Given the description of an element on the screen output the (x, y) to click on. 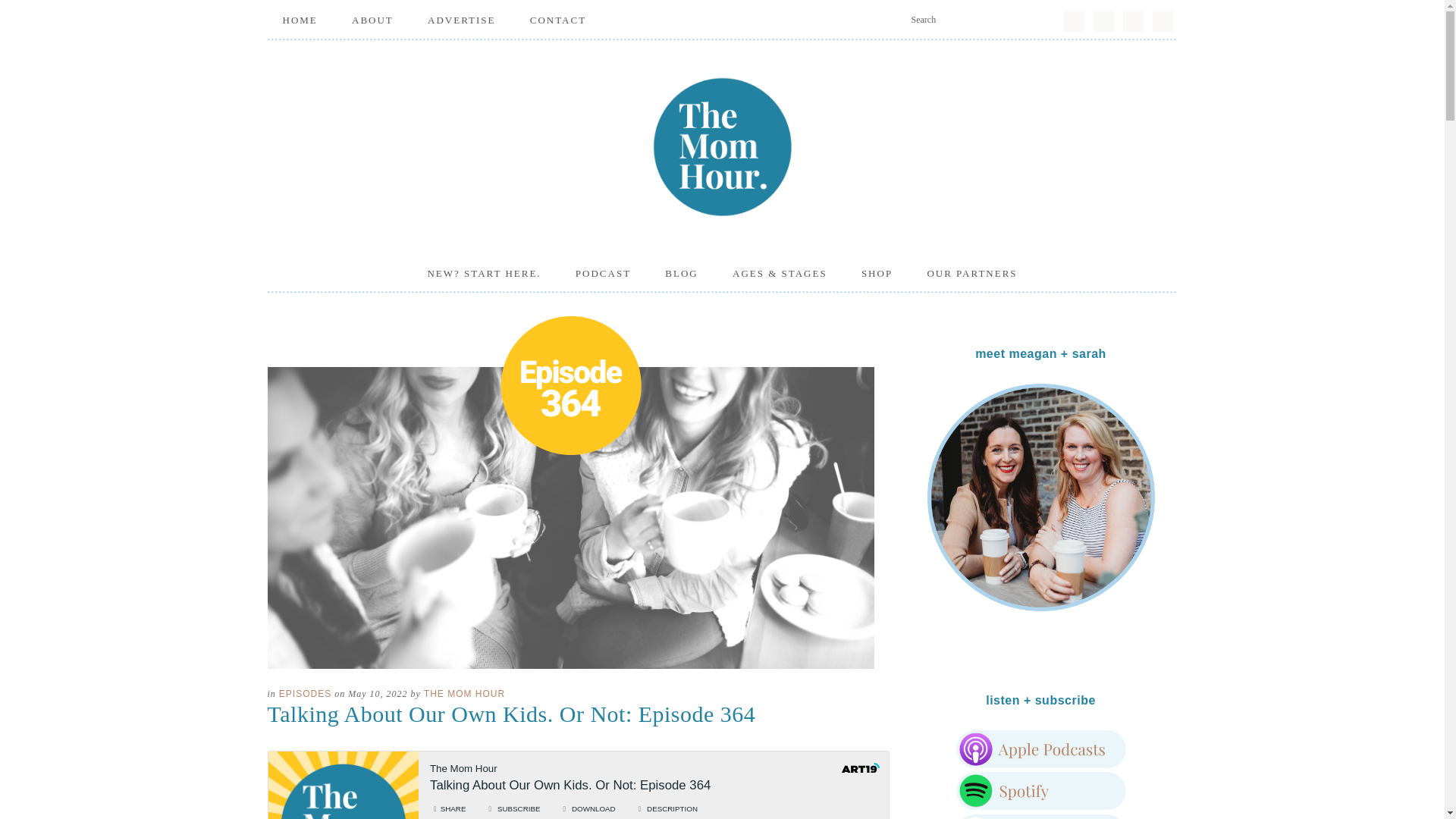
THE MOM HOUR (464, 693)
CONTACT (558, 20)
THE MOM HOUR (721, 146)
ABOUT (372, 20)
NEW? START HERE. (484, 273)
BLOG (681, 273)
HOME (298, 20)
EPISODES (305, 693)
SHOP (876, 273)
ADVERTISE (461, 20)
OUR PARTNERS (971, 273)
PODCAST (603, 273)
